Given the description of an element on the screen output the (x, y) to click on. 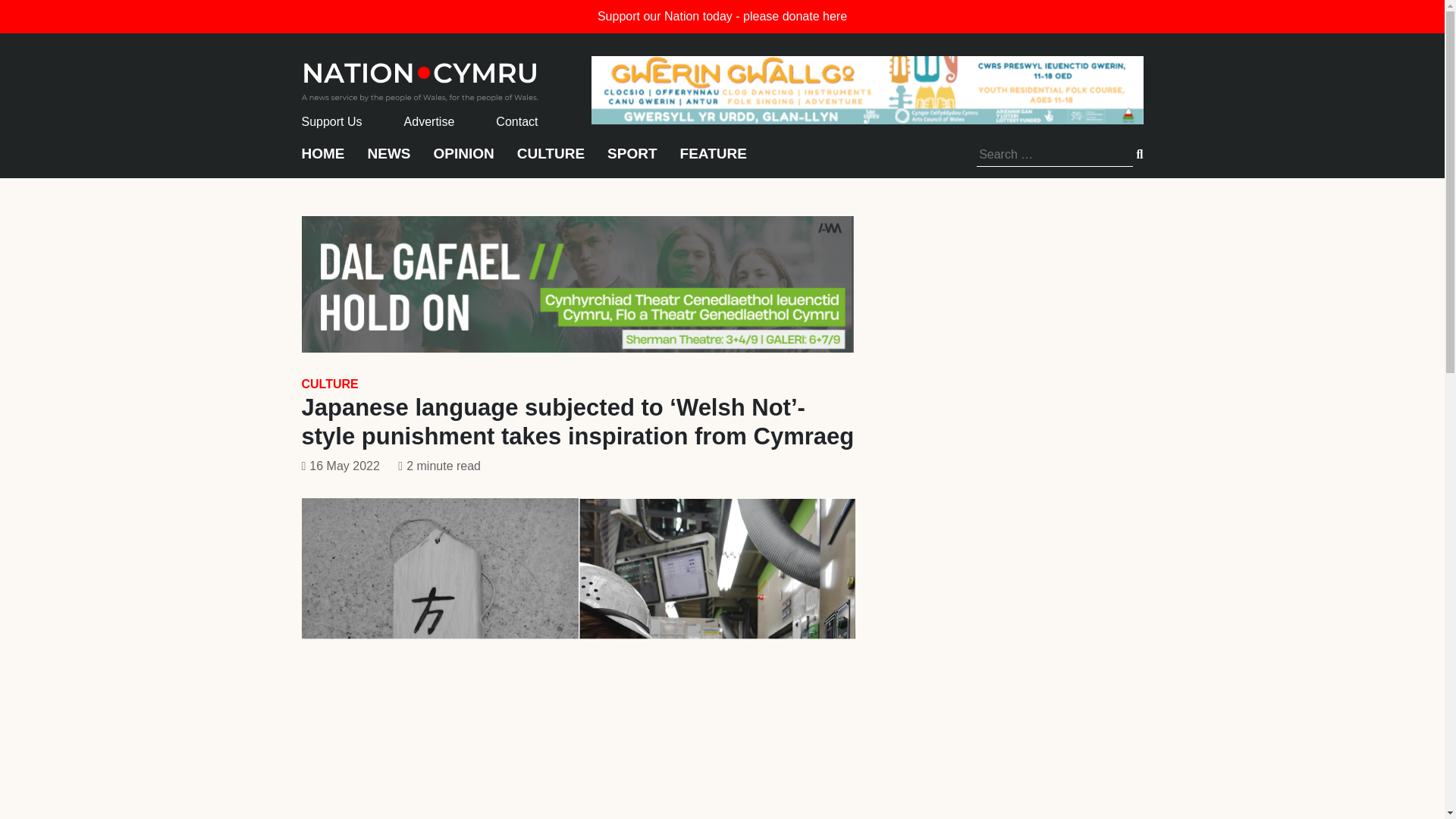
CULTURE (329, 383)
FEATURE (712, 160)
Contact (516, 121)
OPINION (464, 160)
HOME (323, 160)
CULTURE (550, 160)
home (419, 77)
Advertise (429, 121)
Support Us (331, 121)
SPORT (631, 160)
